Given the description of an element on the screen output the (x, y) to click on. 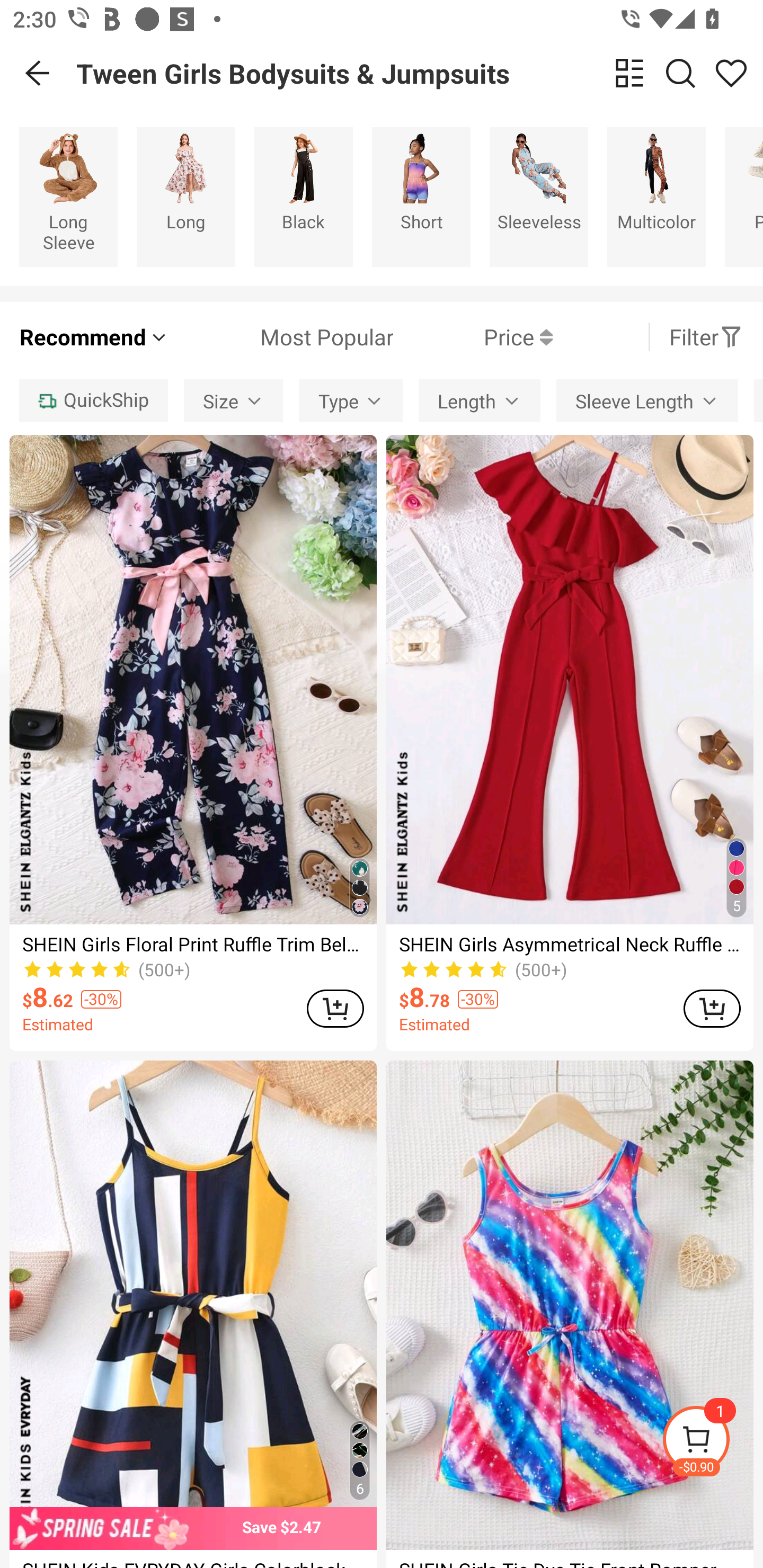
change view (629, 72)
Search (679, 72)
Share (730, 72)
Long Sleeve (68, 196)
Long (185, 196)
Black (303, 196)
Short (421, 196)
Sleeveless (538, 196)
Multicolor (656, 196)
Recommend (94, 336)
Most Popular (280, 336)
Price (472, 336)
Filter (705, 336)
QuickShip (93, 400)
Size (233, 400)
Type (350, 400)
Length (479, 400)
Sleeve Length (646, 400)
ADD TO CART (334, 1008)
ADD TO CART (711, 1008)
SHEIN Girls Tie Dye Tie Front Romper (569, 1313)
-$0.90 (712, 1441)
